Given the description of an element on the screen output the (x, y) to click on. 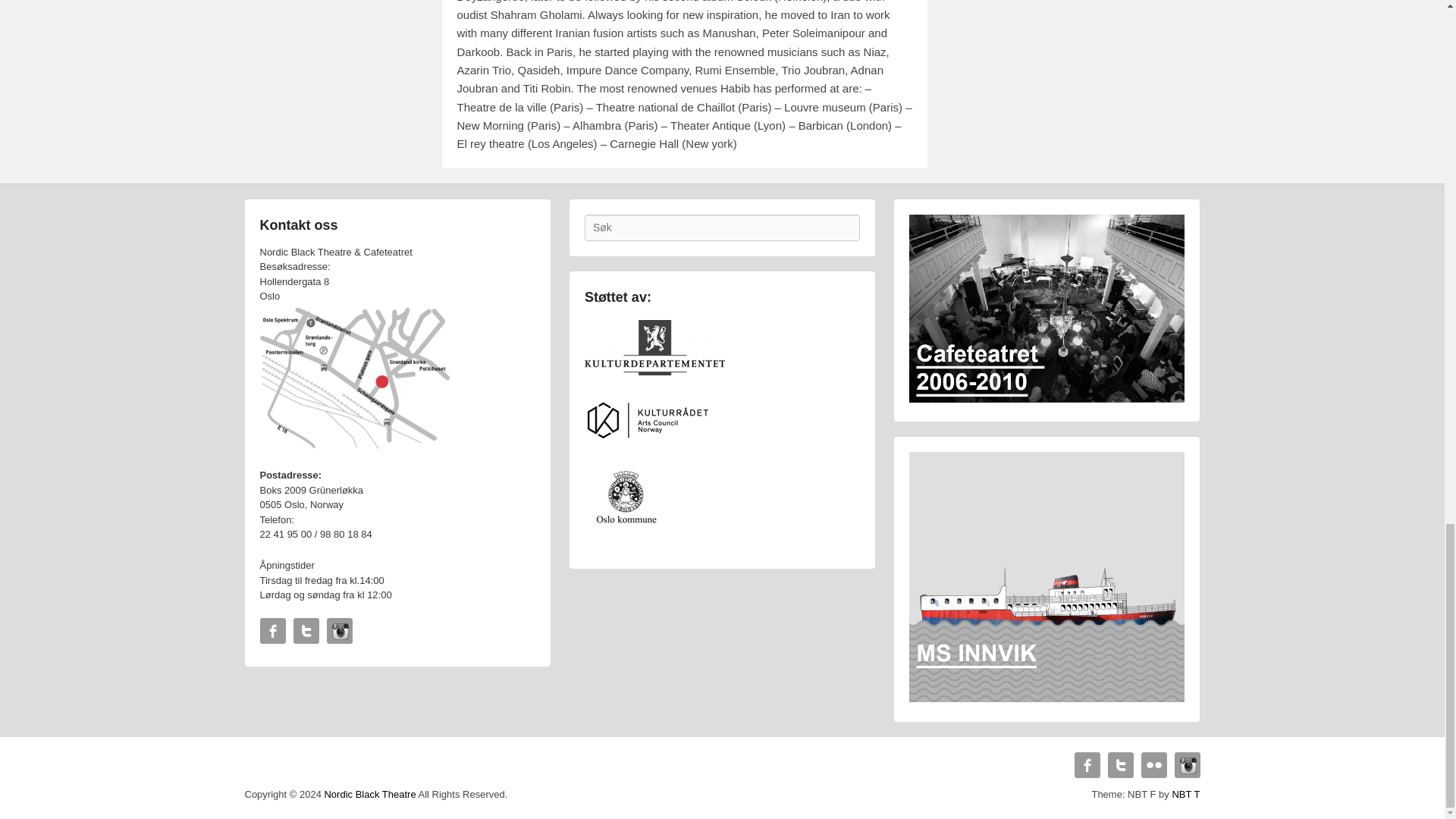
Instagram (339, 630)
Twitter (305, 630)
Instagram (339, 630)
Facebook (1086, 765)
NBT T (1185, 794)
Twitter (305, 630)
Facebook (272, 630)
Twitter (1119, 765)
Instagram (1186, 765)
Flickr (1153, 765)
